Given the description of an element on the screen output the (x, y) to click on. 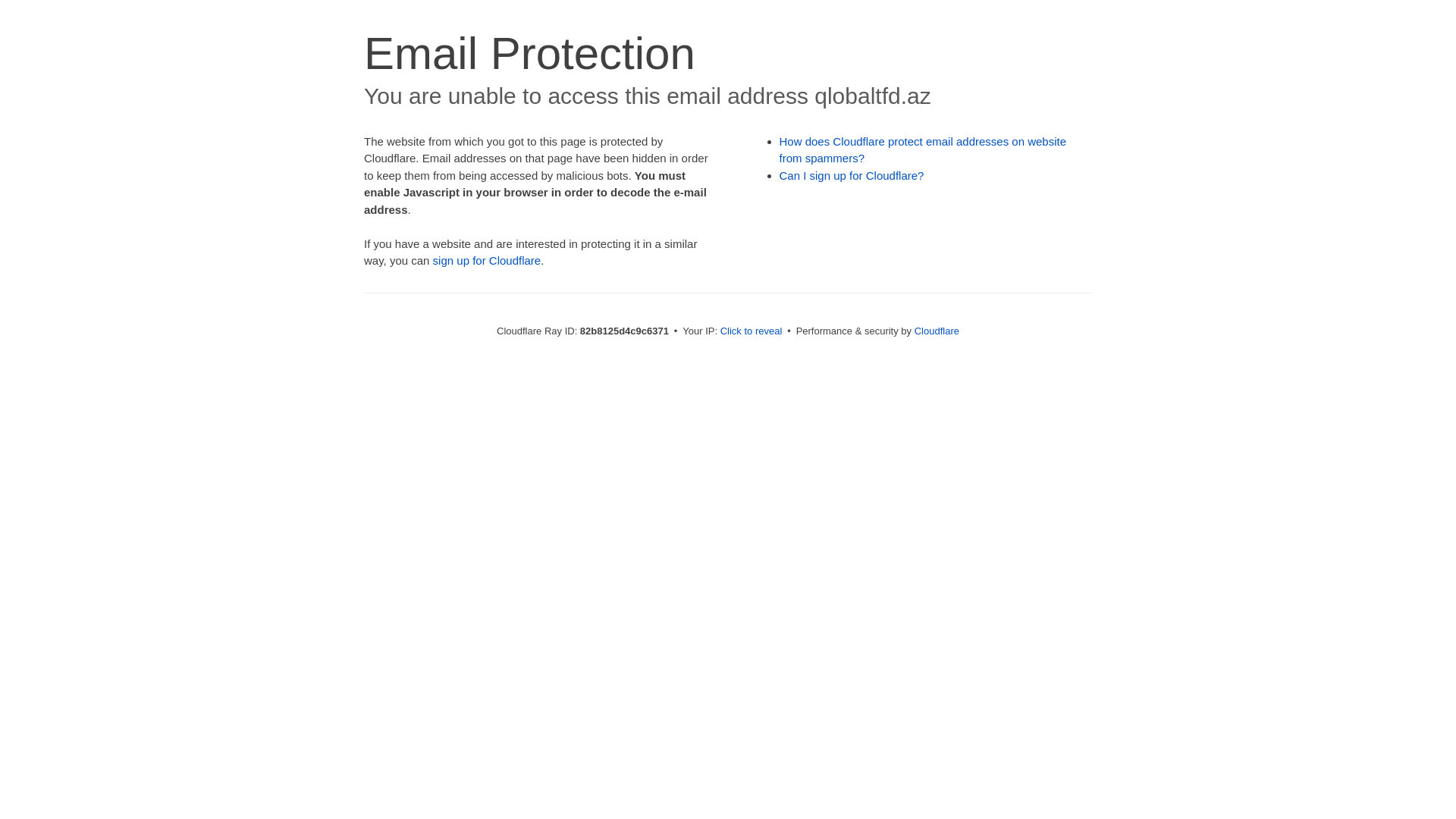
Cloudflare Element type: text (936, 330)
Can I sign up for Cloudflare? Element type: text (851, 175)
sign up for Cloudflare Element type: text (487, 260)
Click to reveal Element type: text (751, 330)
